Given the description of an element on the screen output the (x, y) to click on. 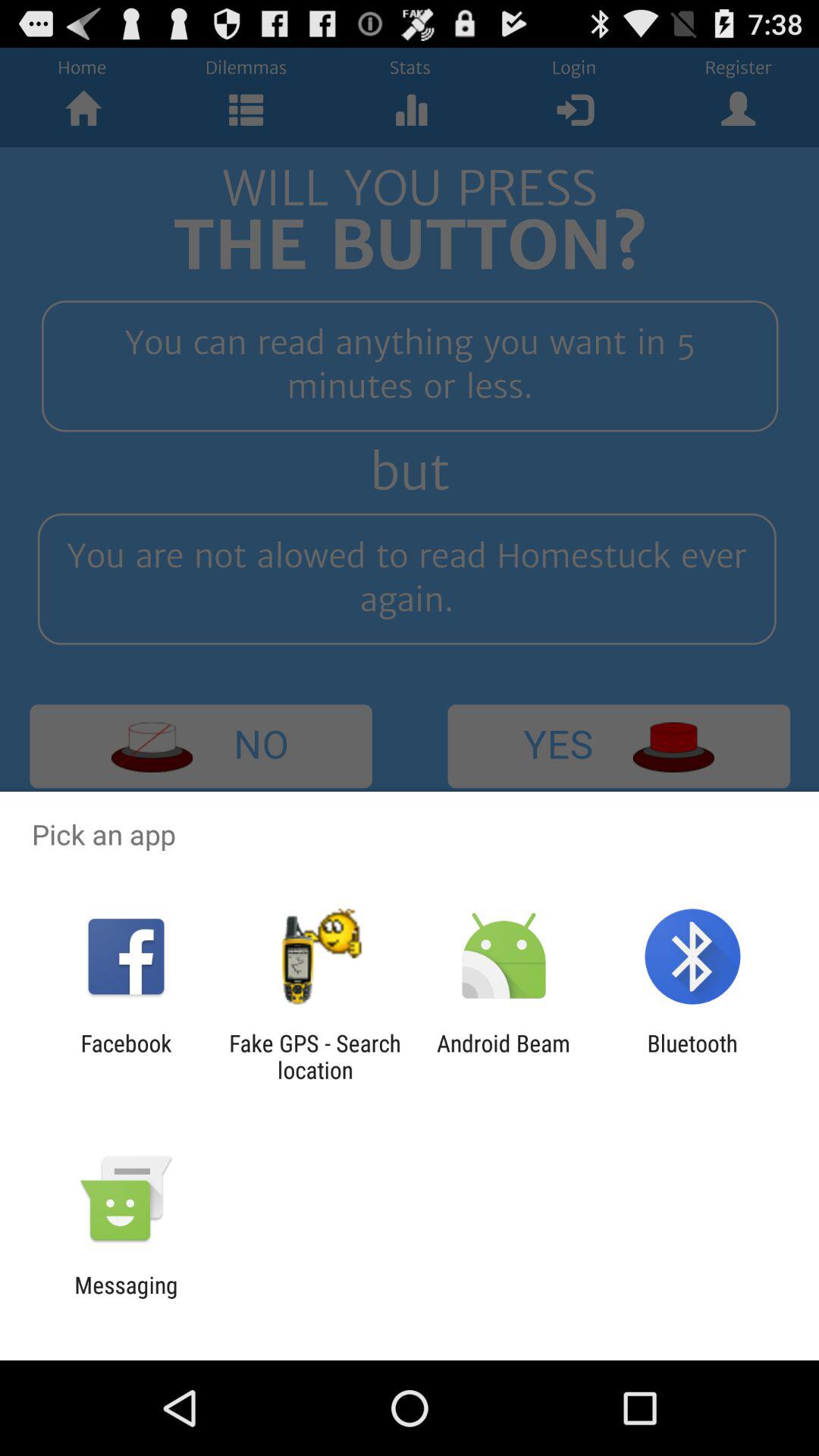
choose icon to the right of android beam icon (692, 1056)
